Given the description of an element on the screen output the (x, y) to click on. 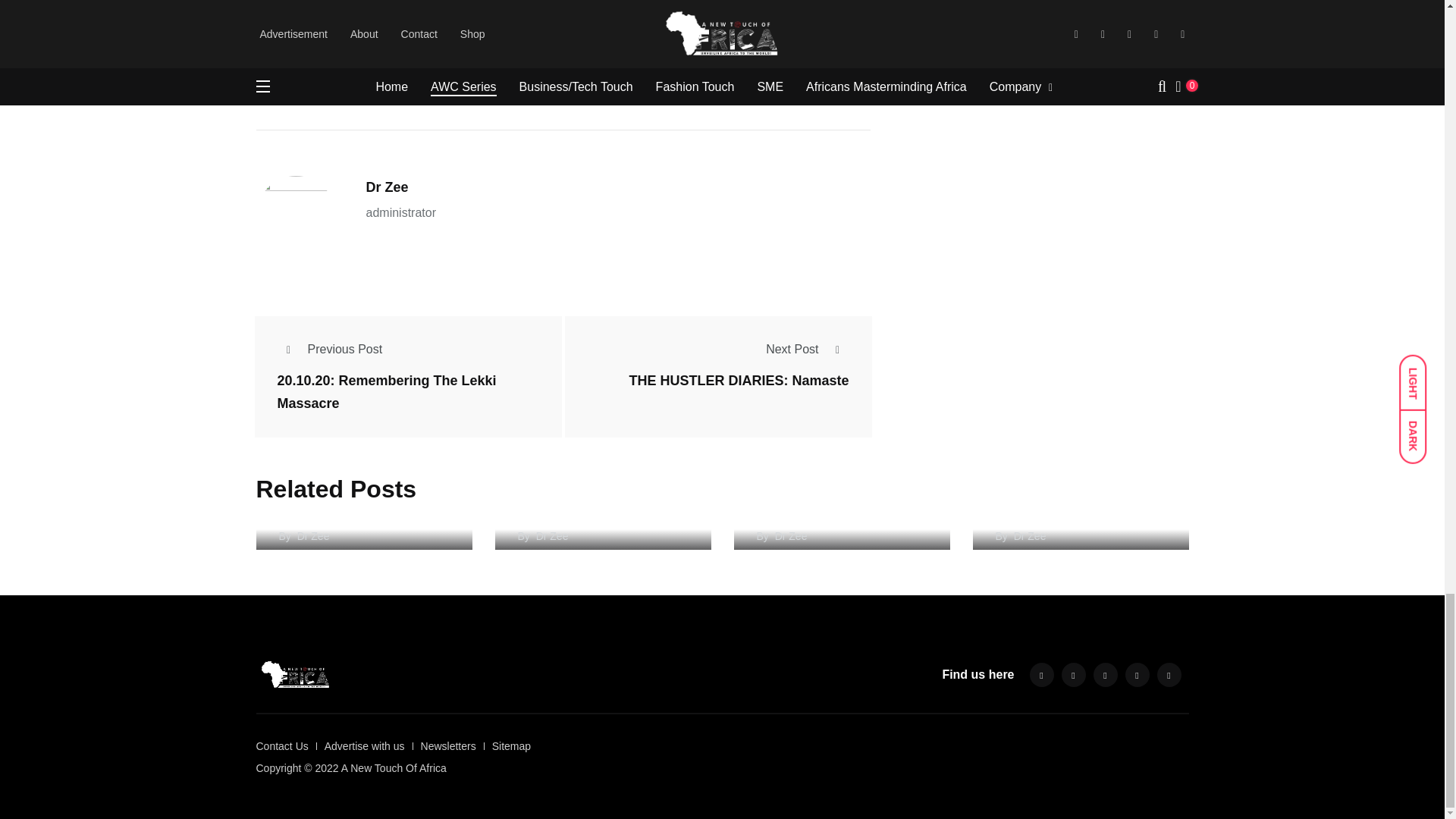
Share on LinkedIn (507, 60)
Share on Pinterest (582, 60)
Share on Facebook (355, 60)
Share on Twitter (431, 60)
